Given the description of an element on the screen output the (x, y) to click on. 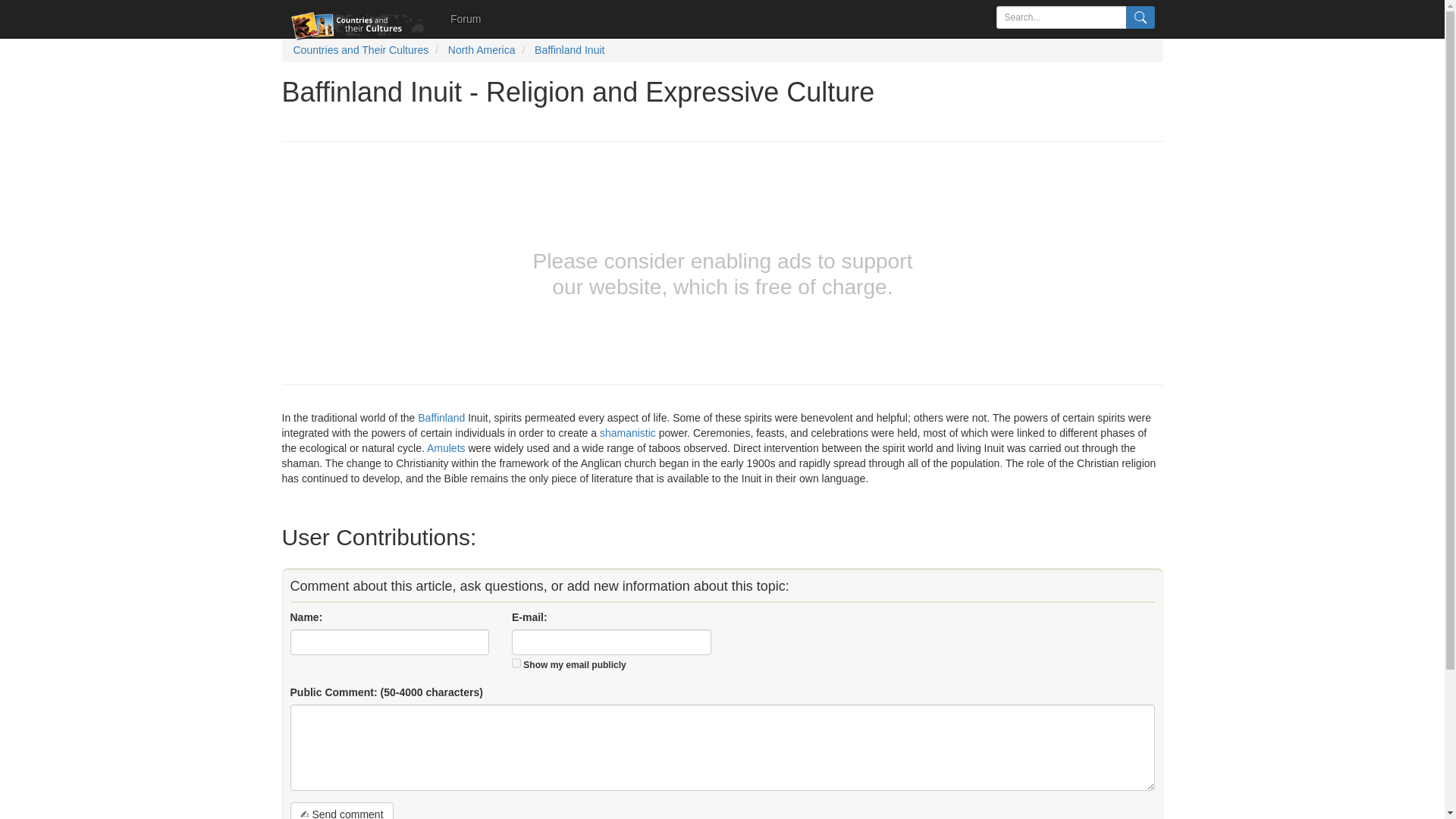
Baffinland (440, 417)
Baffinland Inuit (569, 50)
shamanistic (627, 432)
View 'amulets' definition from Wikipedia (445, 448)
North America (481, 50)
Countries and Their Cultures (360, 50)
Amulets (445, 448)
View 'shamanistic' definition from Wikipedia (627, 432)
1 (516, 663)
View 'baffinland' definition from Wikipedia (440, 417)
Forum (465, 18)
